Given the description of an element on the screen output the (x, y) to click on. 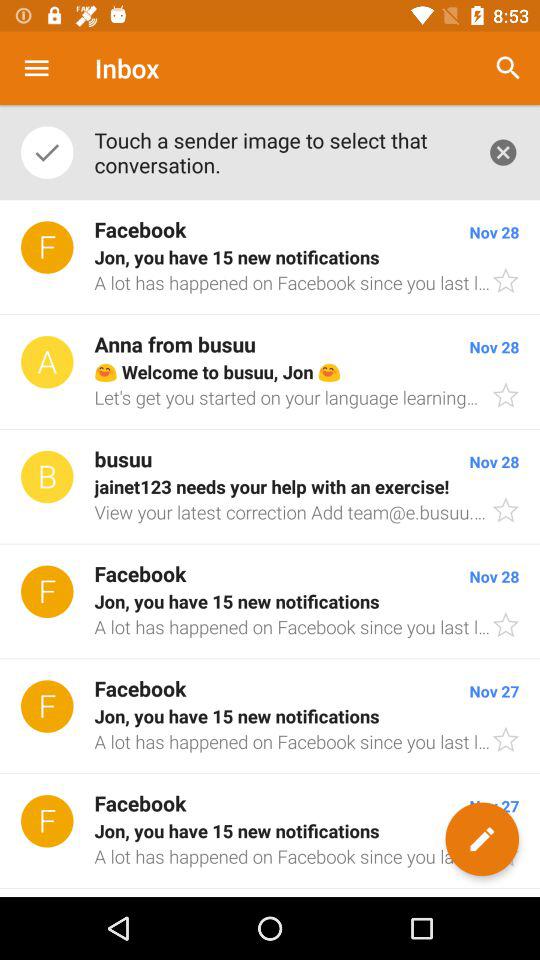
open the icon below the touch a sender icon (270, 257)
